Given the description of an element on the screen output the (x, y) to click on. 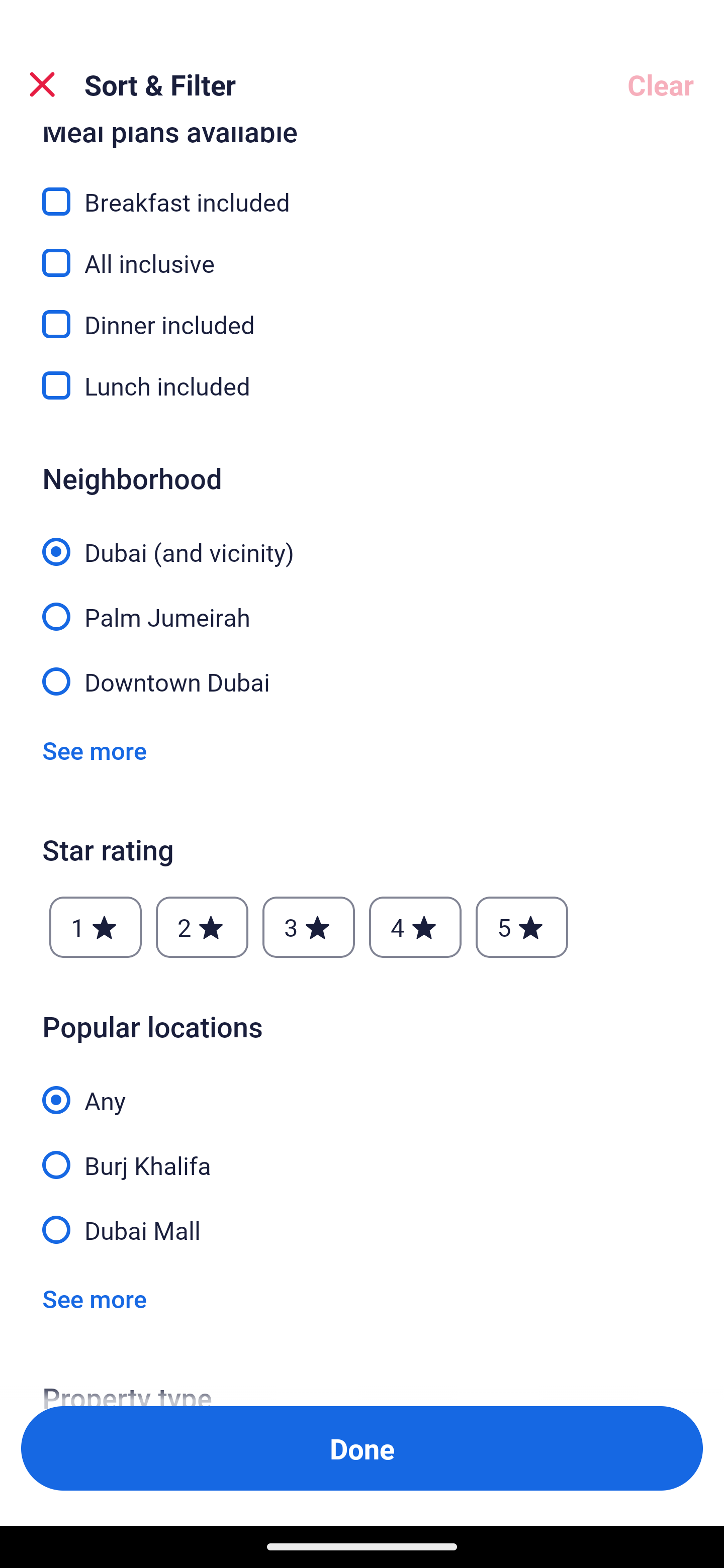
Close Sort and Filter (42, 84)
Clear (660, 84)
Breakfast included, Breakfast included (361, 190)
All inclusive, All inclusive (361, 251)
Dinner included, Dinner included (361, 312)
Lunch included, Lunch included (361, 385)
Palm Jumeirah (361, 605)
Downtown Dubai (361, 680)
See more See more neighborhoods Link (93, 749)
1 (95, 926)
2 (201, 926)
3 (308, 926)
4 (415, 926)
5 (521, 926)
Burj Khalifa (361, 1153)
Dubai Mall (361, 1228)
See more See more popular locations Link (93, 1297)
Apply and close Sort and Filter Done (361, 1448)
